Given the description of an element on the screen output the (x, y) to click on. 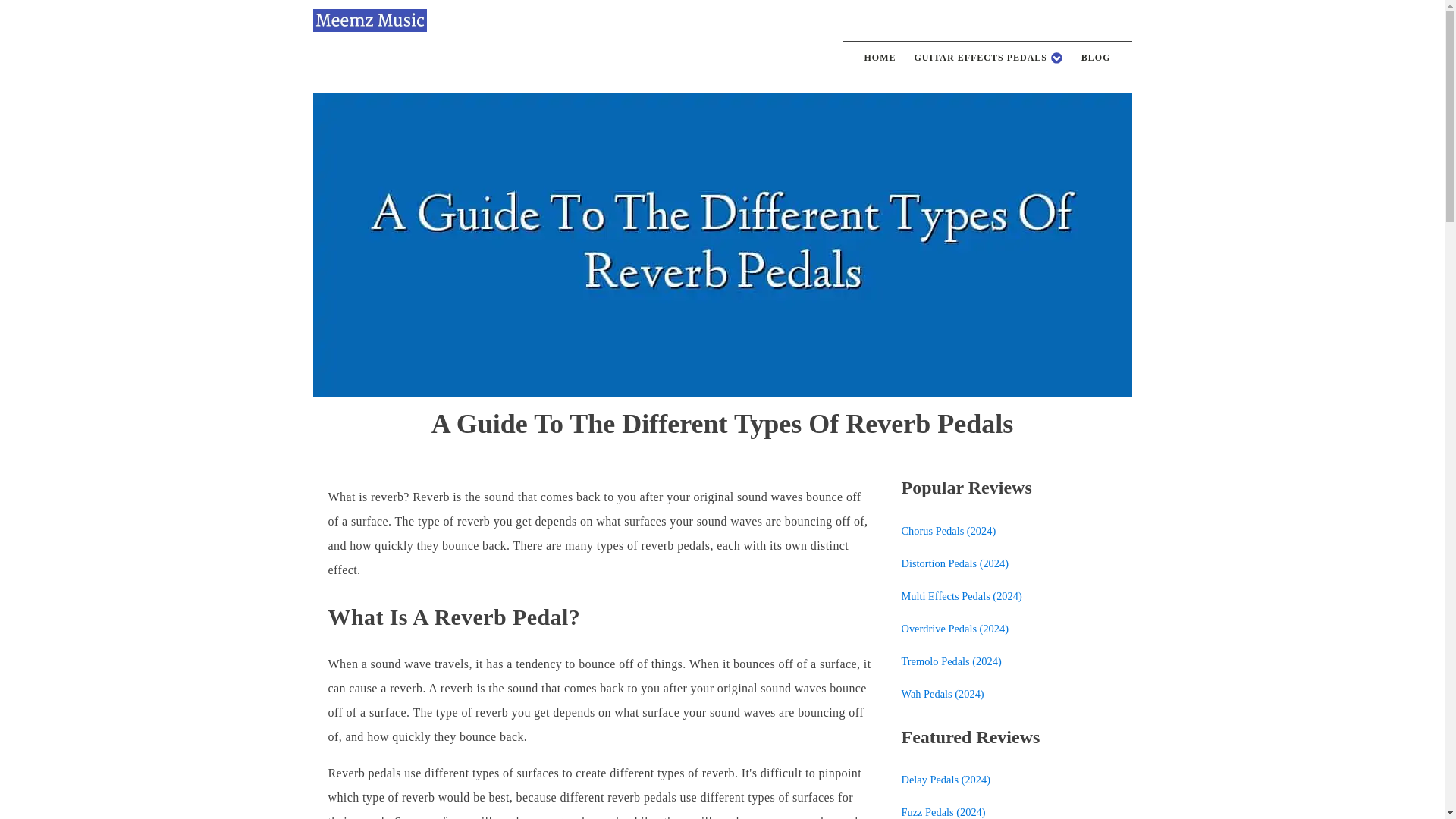
BLOG (1095, 58)
Meemz Music Reviews (369, 20)
GUITAR EFFECTS PEDALS (988, 58)
HOME (880, 58)
